Given the description of an element on the screen output the (x, y) to click on. 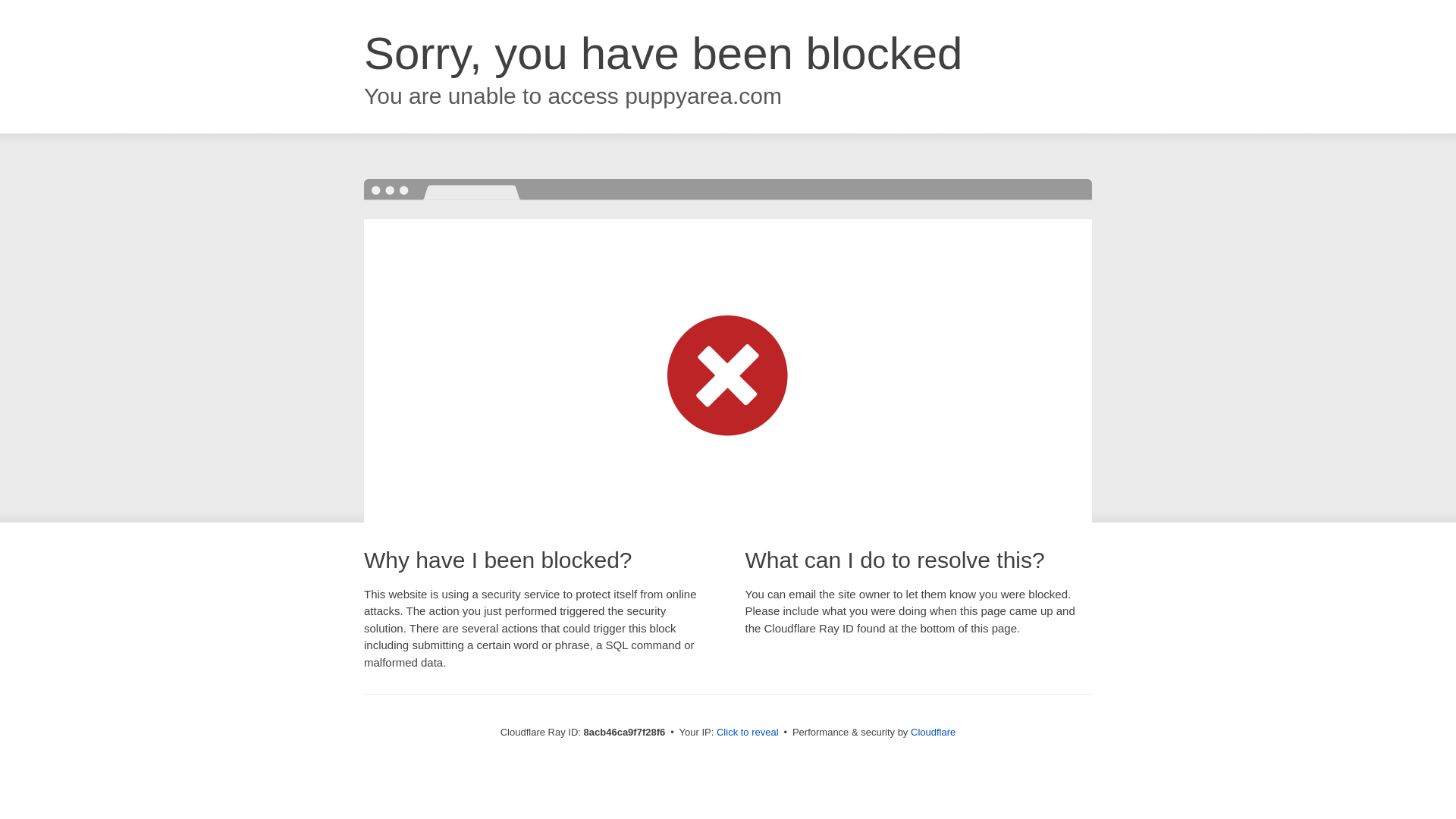
Cloudflare (933, 731)
Click to reveal (747, 732)
